Given the description of an element on the screen output the (x, y) to click on. 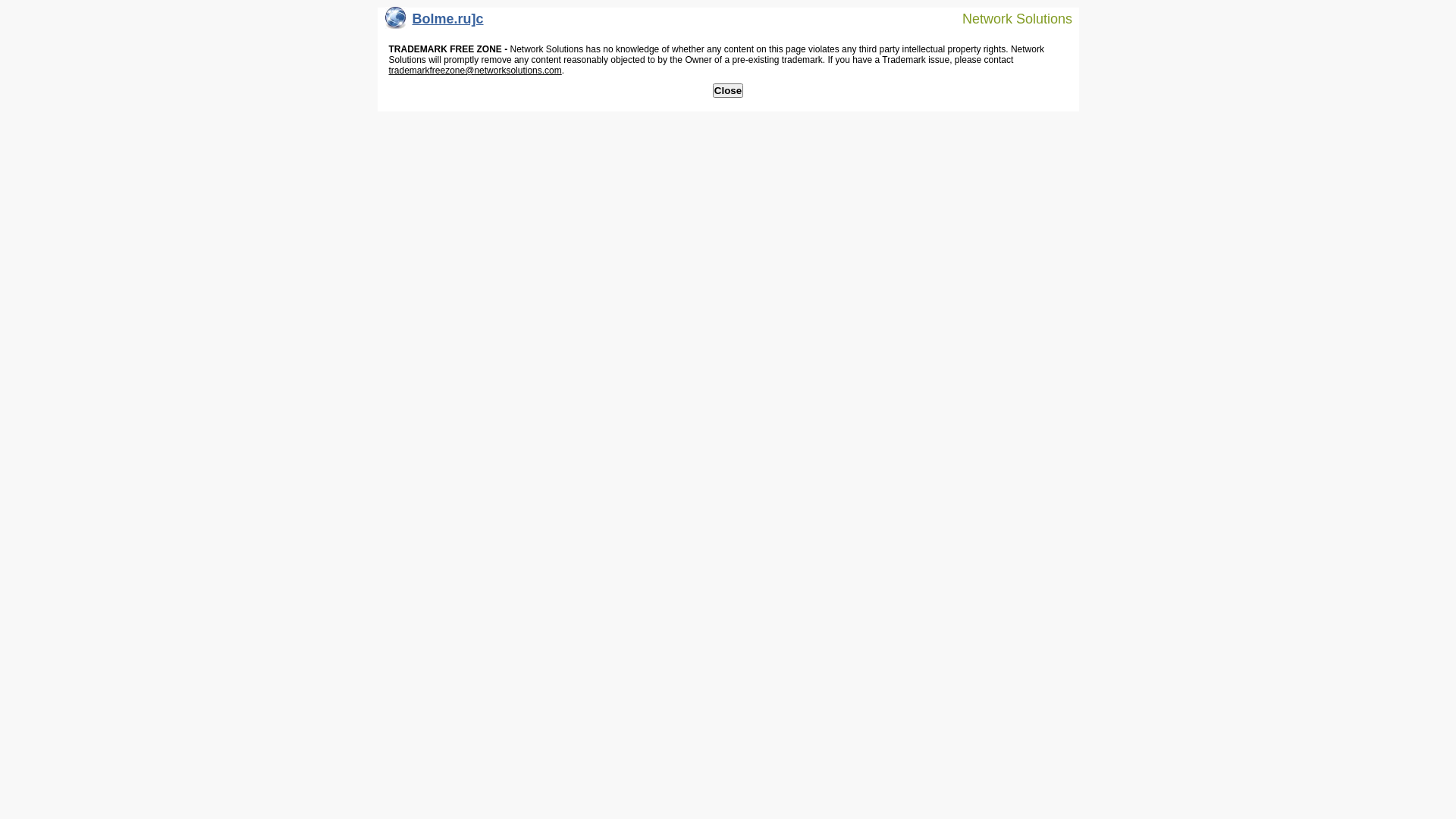
Network Solutions Element type: text (1007, 17)
trademarkfreezone@networksolutions.com Element type: text (474, 70)
Close Element type: text (727, 90)
Bolme.ru]c Element type: text (434, 21)
